Given the description of an element on the screen output the (x, y) to click on. 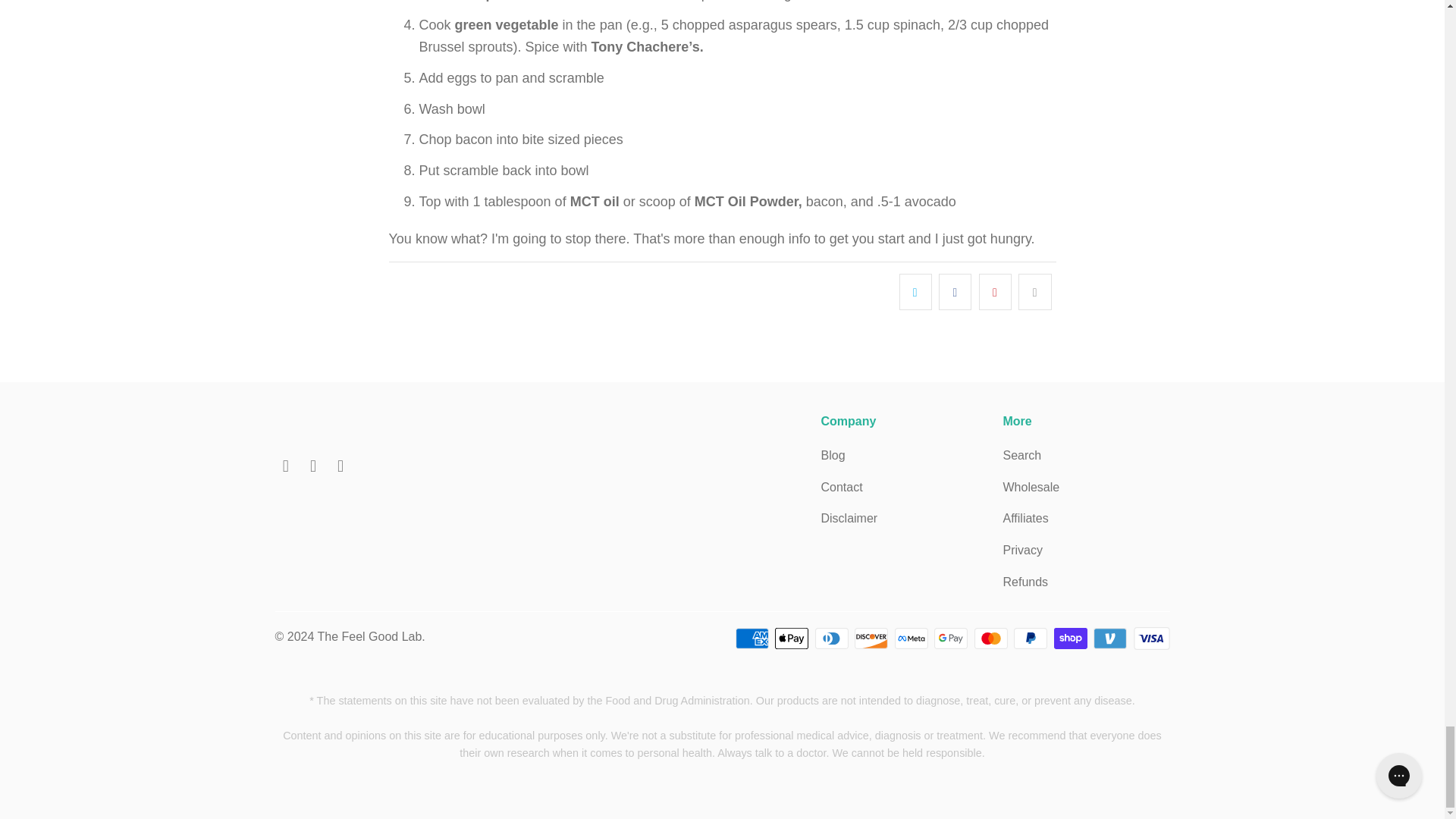
Diners Club (833, 638)
Mastercard (992, 638)
Visa (1150, 638)
Discover (872, 638)
PayPal (1031, 638)
Venmo (1111, 638)
Apple Pay (792, 638)
Shop Pay (1072, 638)
American Express (753, 638)
Meta Pay (913, 638)
